Given the description of an element on the screen output the (x, y) to click on. 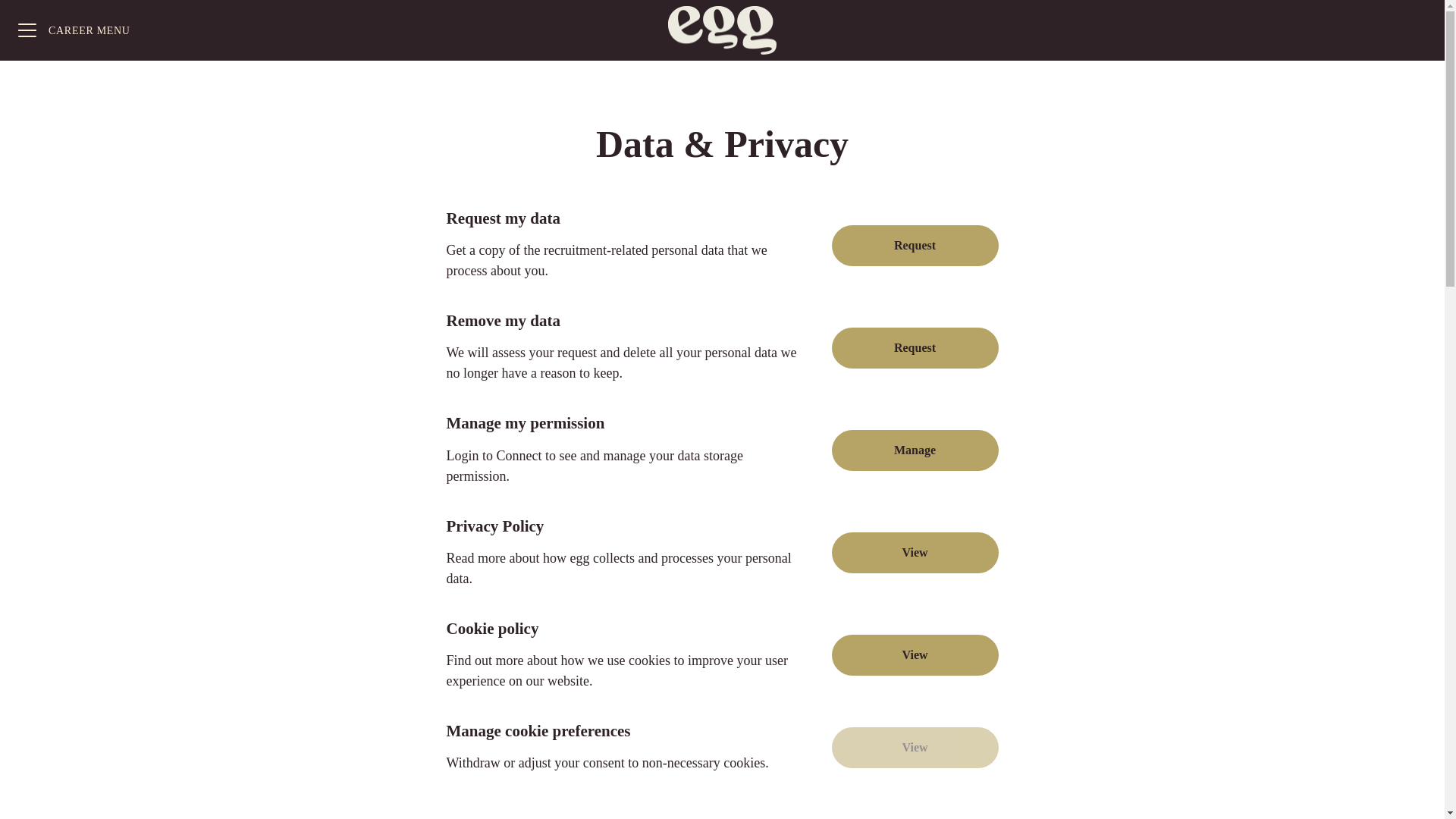
Request (914, 245)
Manage (914, 449)
View (914, 552)
Request (914, 347)
View (914, 747)
View (914, 654)
CAREER MENU (73, 30)
Career menu (73, 30)
